Given the description of an element on the screen output the (x, y) to click on. 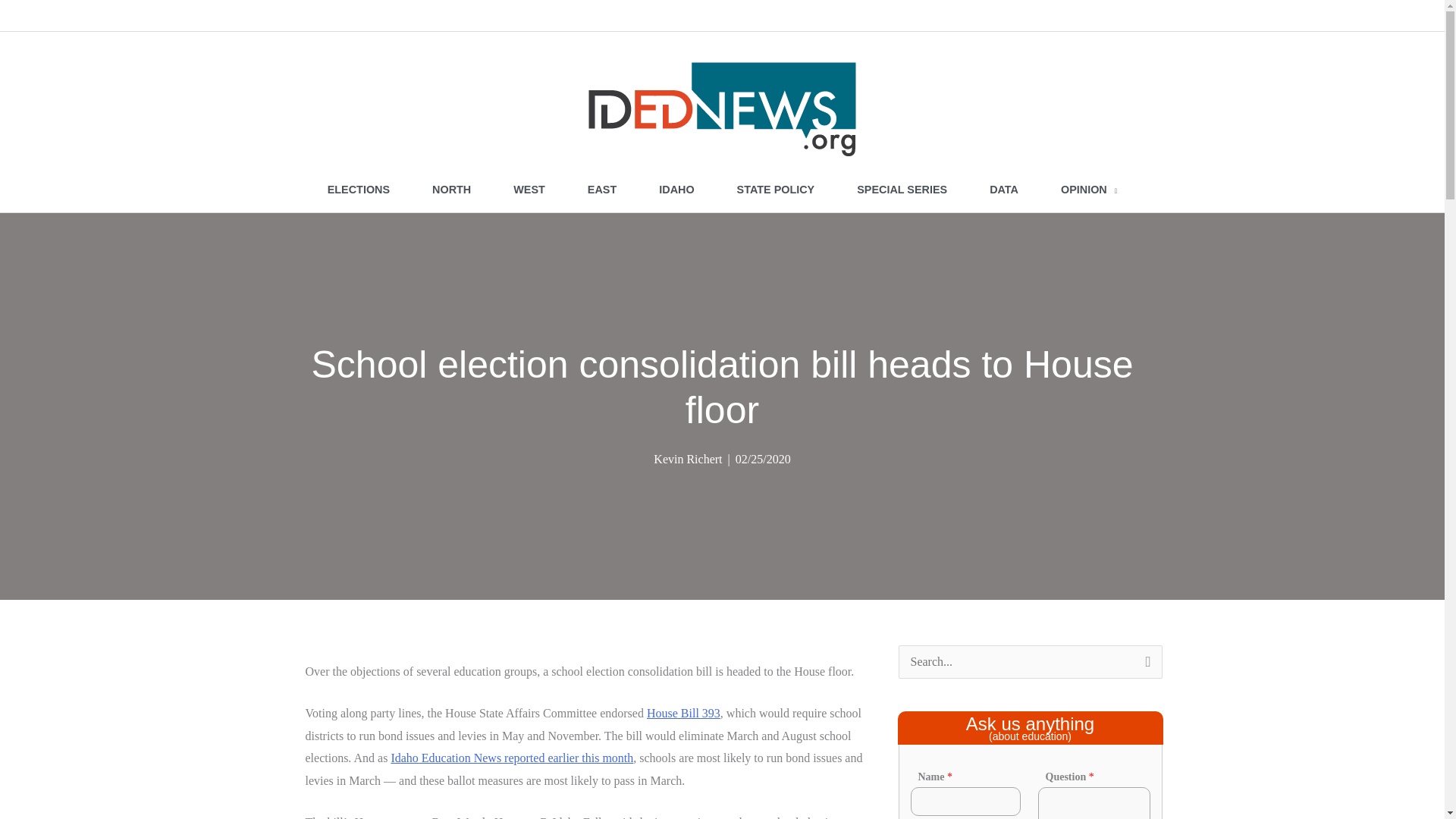
DATA (1003, 190)
STATE POLICY (775, 190)
NORTH (451, 190)
Idaho Education News reported earlier this month (511, 757)
ELECTIONS (357, 190)
House Bill 393 (683, 712)
IDAHO (675, 190)
Kevin Richert (687, 459)
WEST (529, 190)
EAST (601, 190)
OPINION (1088, 190)
SPECIAL SERIES (901, 190)
